Given the description of an element on the screen output the (x, y) to click on. 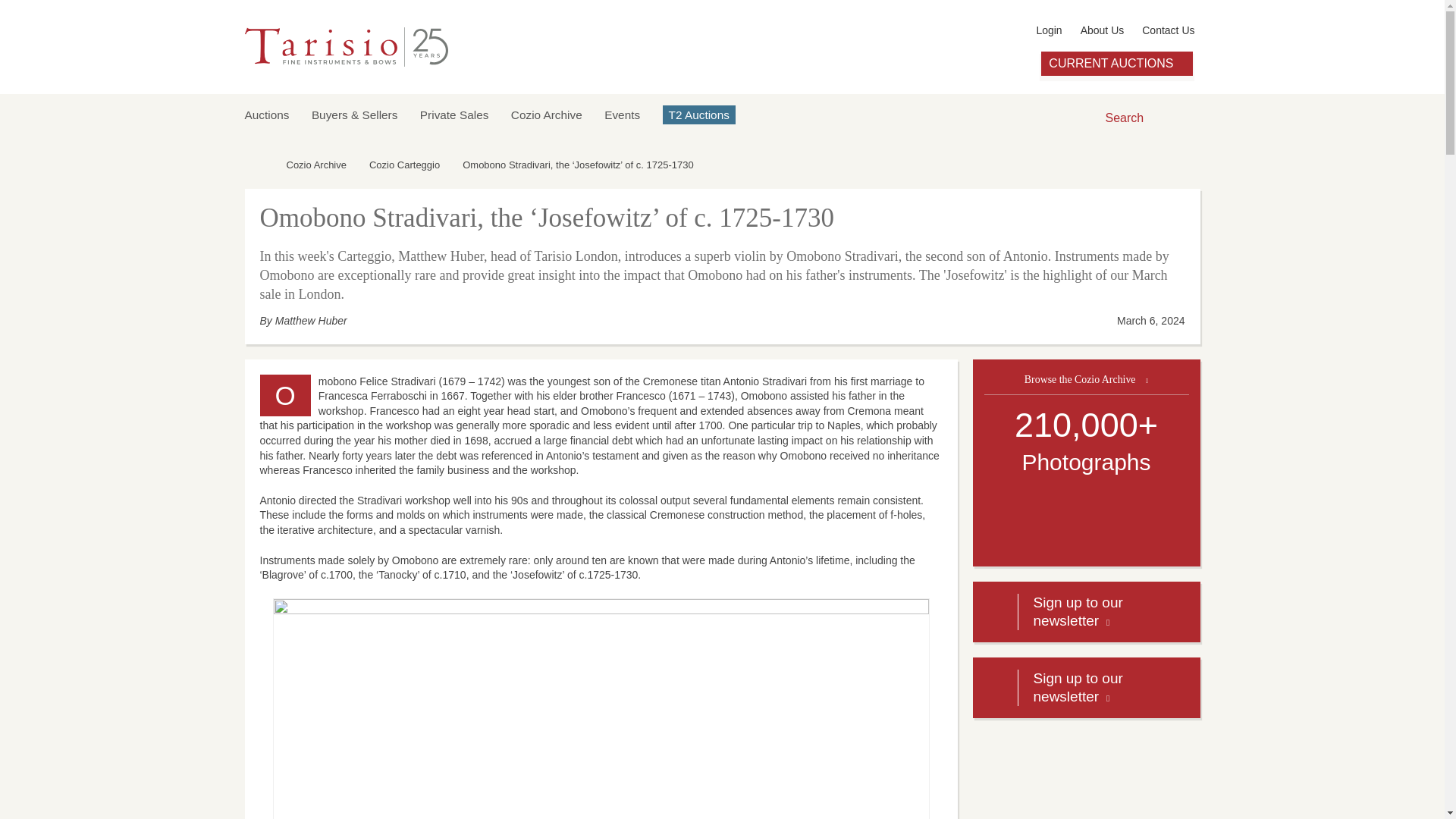
Auctions (266, 114)
Private Sales (454, 114)
About Us (1102, 30)
Contact Us (1167, 30)
Login (1048, 30)
Cozio Archive (546, 114)
